Given the description of an element on the screen output the (x, y) to click on. 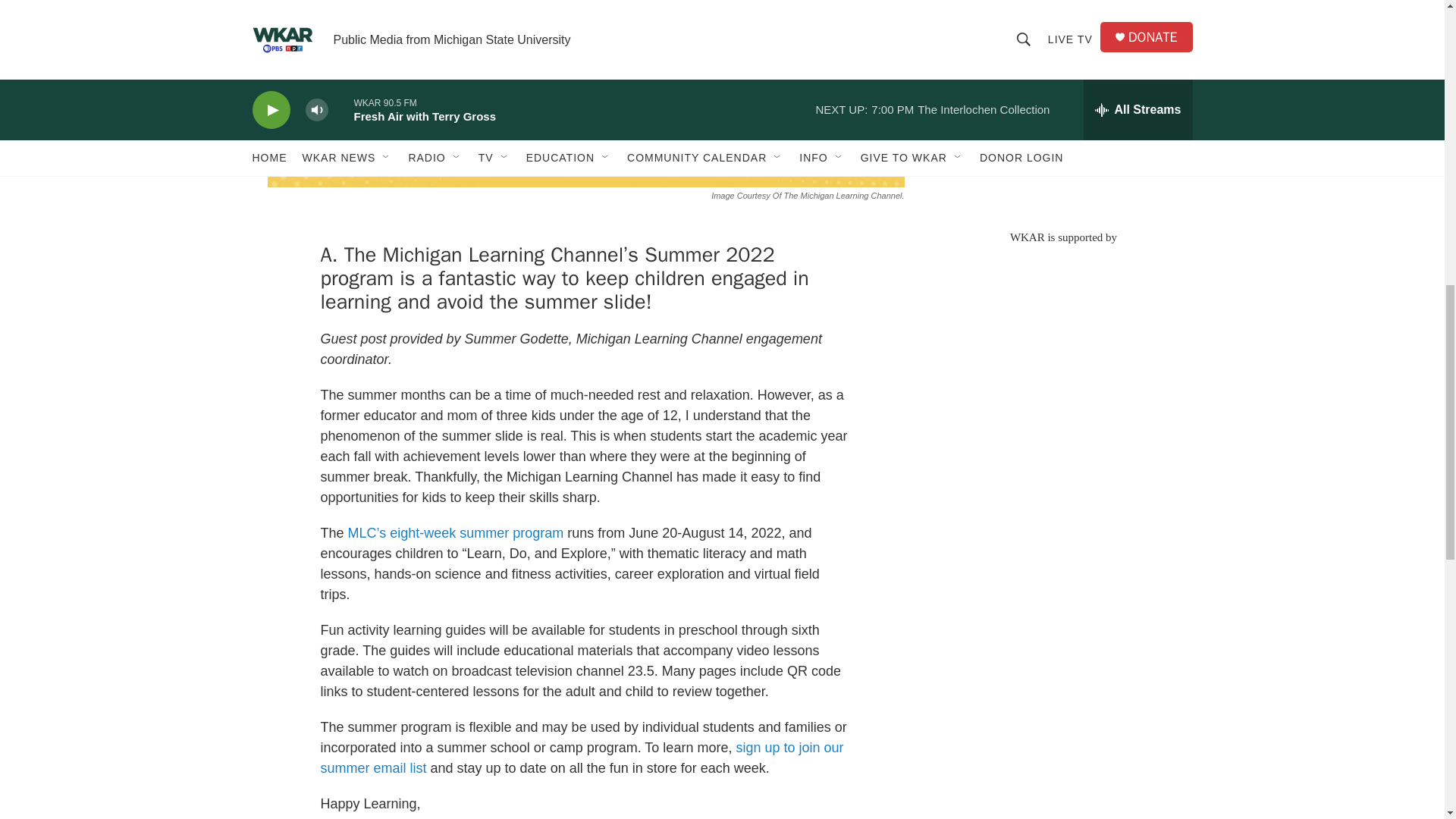
3rd party ad content (1062, 353)
3rd party ad content (1062, 105)
